Given the description of an element on the screen output the (x, y) to click on. 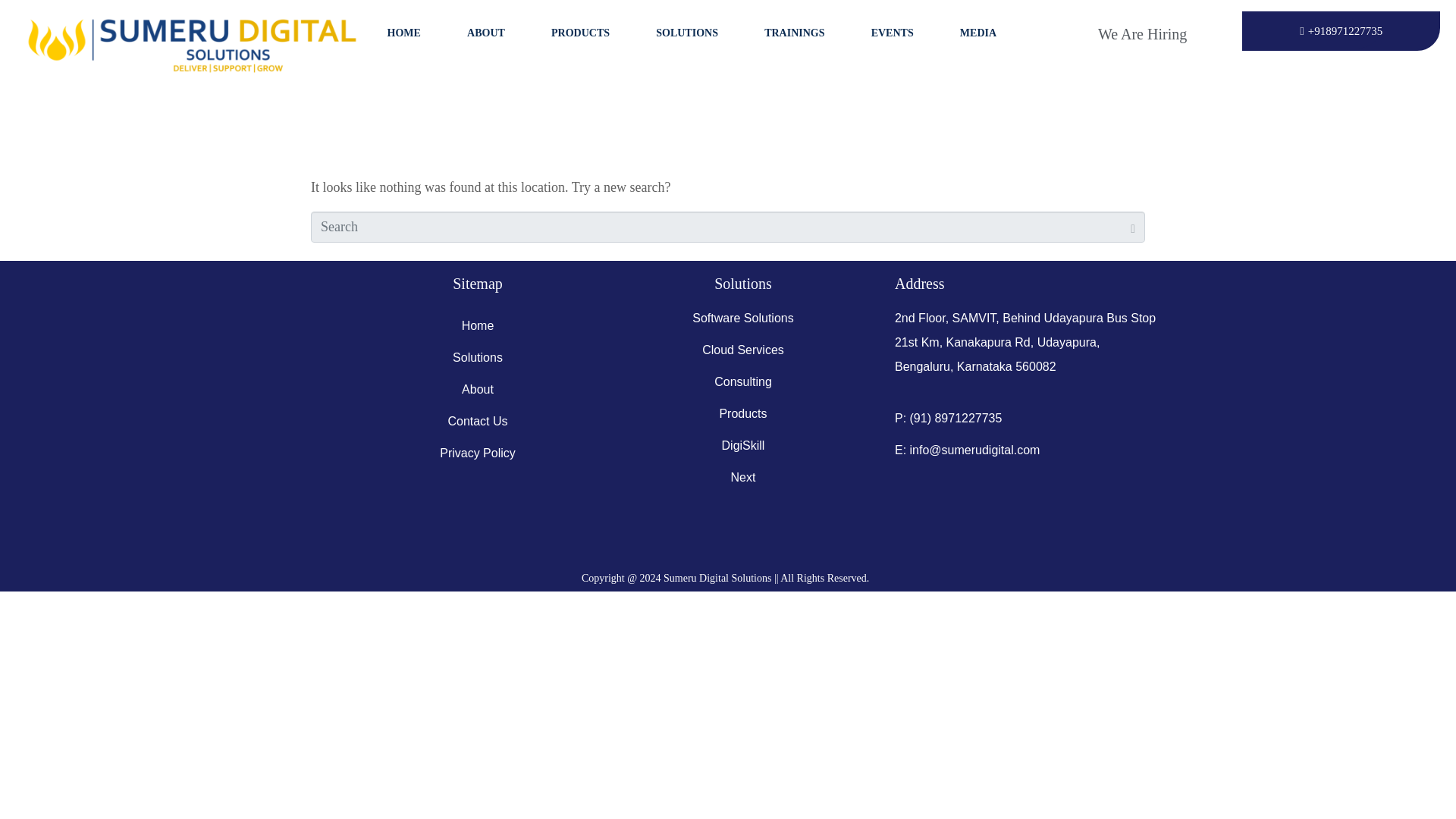
SOLUTIONS (687, 33)
MEDIA (978, 33)
EVENTS (892, 33)
TRAININGS (794, 33)
PRODUCTS (580, 33)
HOME (403, 33)
ABOUT (486, 33)
